Given the description of an element on the screen output the (x, y) to click on. 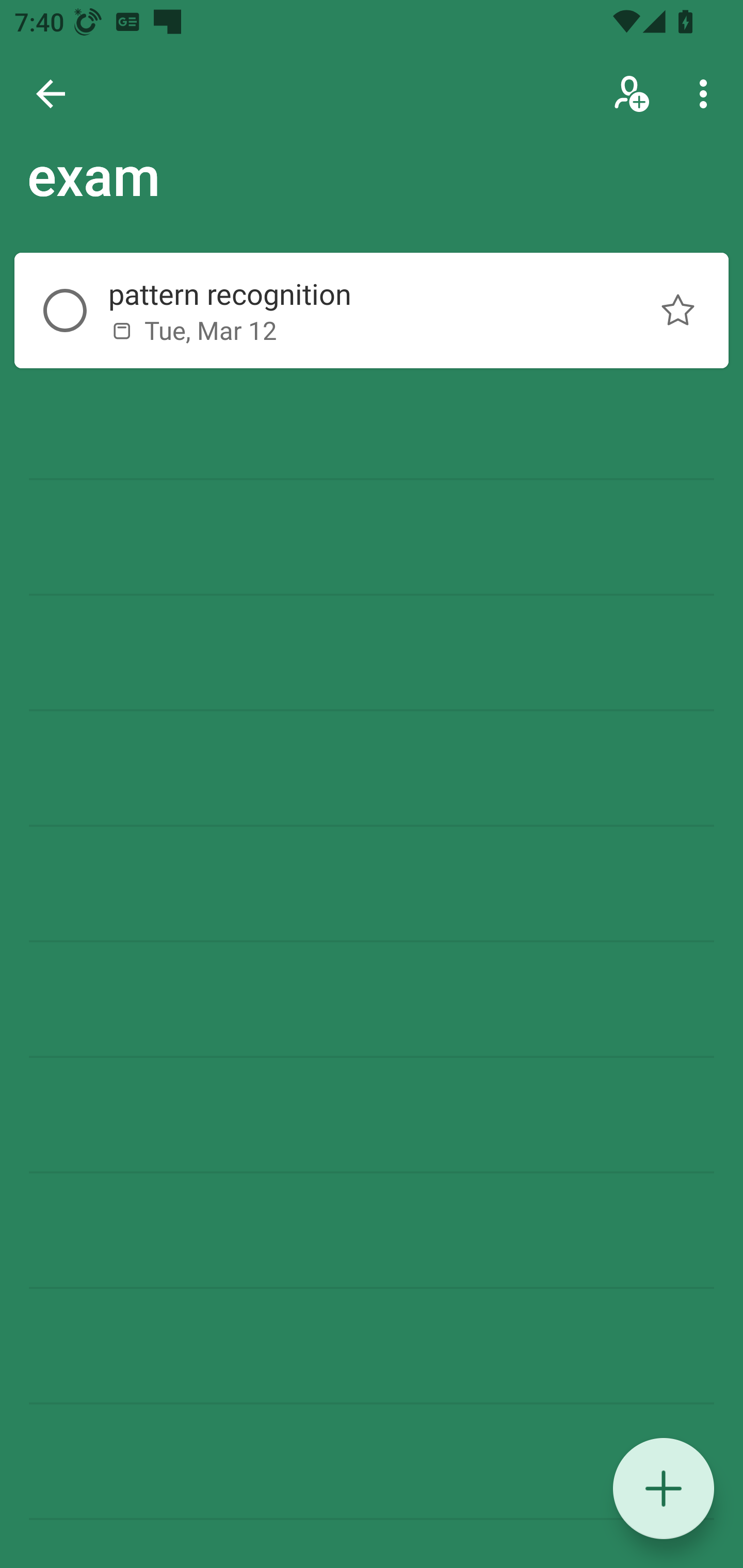
Back (50, 93)
Share list (632, 93)
More options (706, 93)
My Day, 0 tasks (182, 187)
Incomplete task pattern recognition, Button (64, 310)
Normal task pattern recognition, Button (677, 310)
pattern recognition (356, 293)
Add a task (663, 1488)
